Given the description of an element on the screen output the (x, y) to click on. 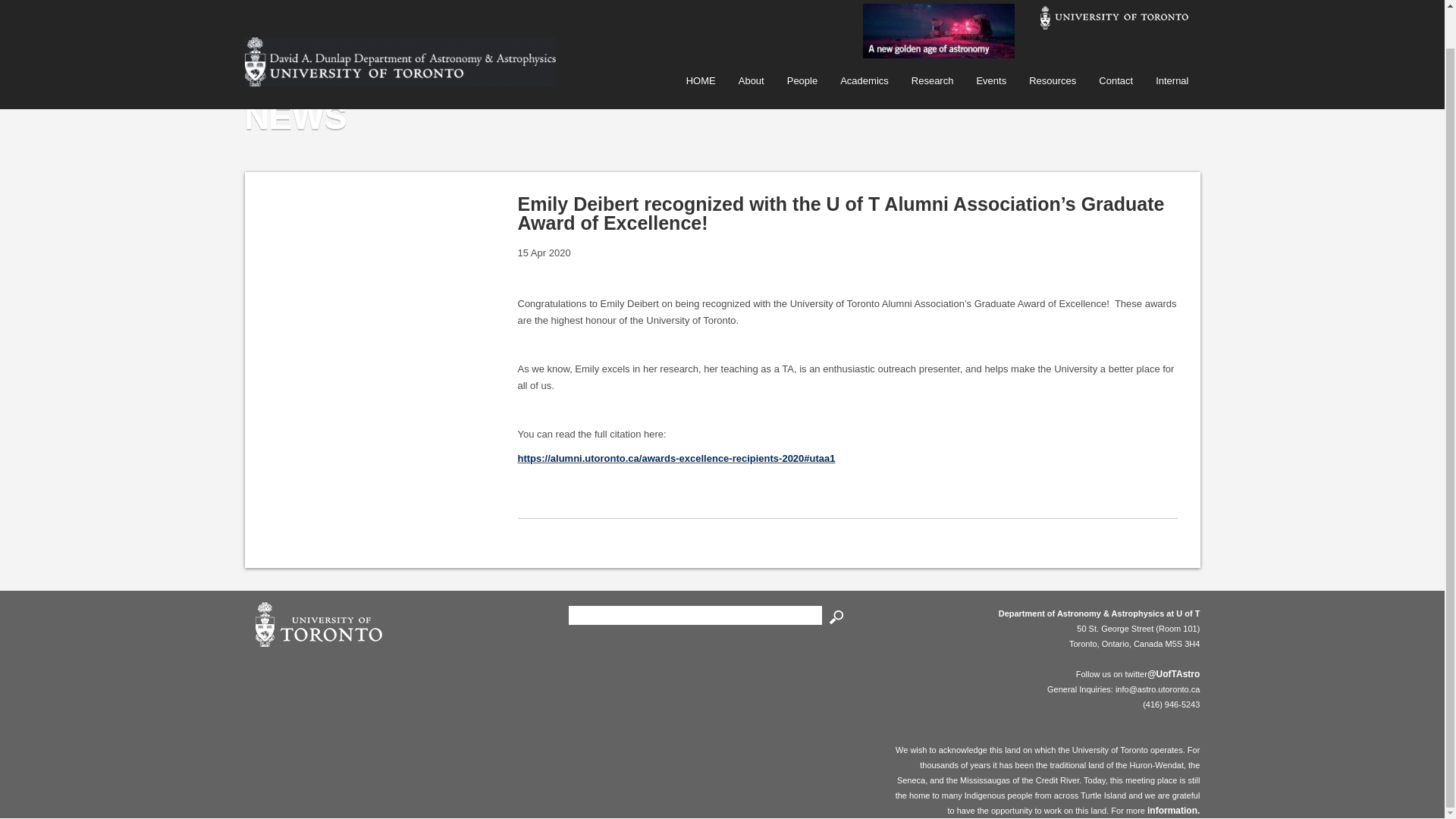
Research (932, 40)
HOME (700, 40)
Search (836, 617)
About (751, 40)
Academics (863, 40)
Contact (1115, 40)
Resources (1052, 40)
People (802, 40)
Internal (1171, 40)
Events (990, 40)
